Given the description of an element on the screen output the (x, y) to click on. 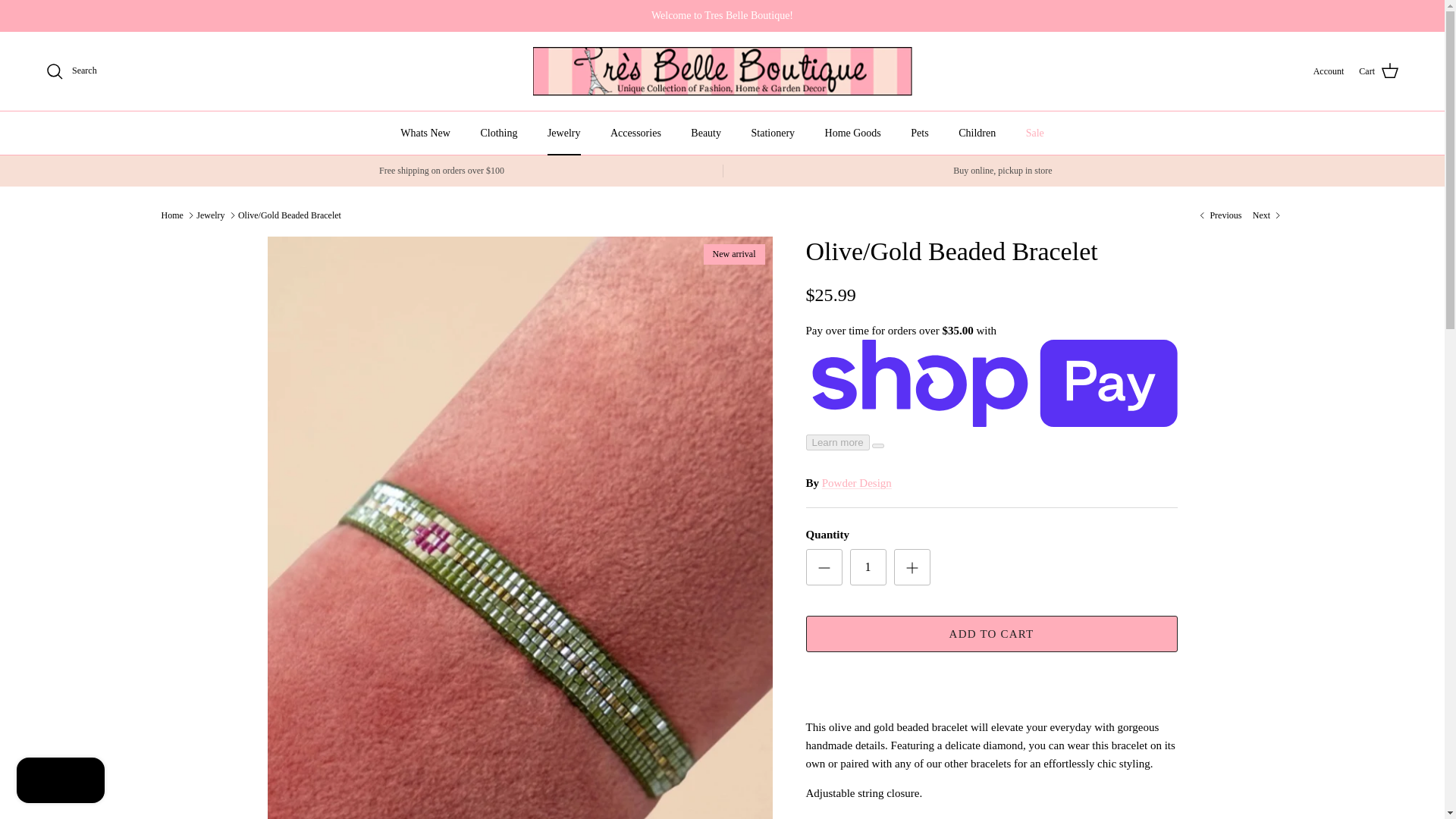
Search (71, 71)
Shopify online store chat (60, 781)
Account (1328, 71)
Clothing (498, 132)
Cart (1378, 71)
Children (976, 132)
Home Goods (852, 132)
Whats New (425, 132)
Stationery (772, 132)
Beauty (706, 132)
